Given the description of an element on the screen output the (x, y) to click on. 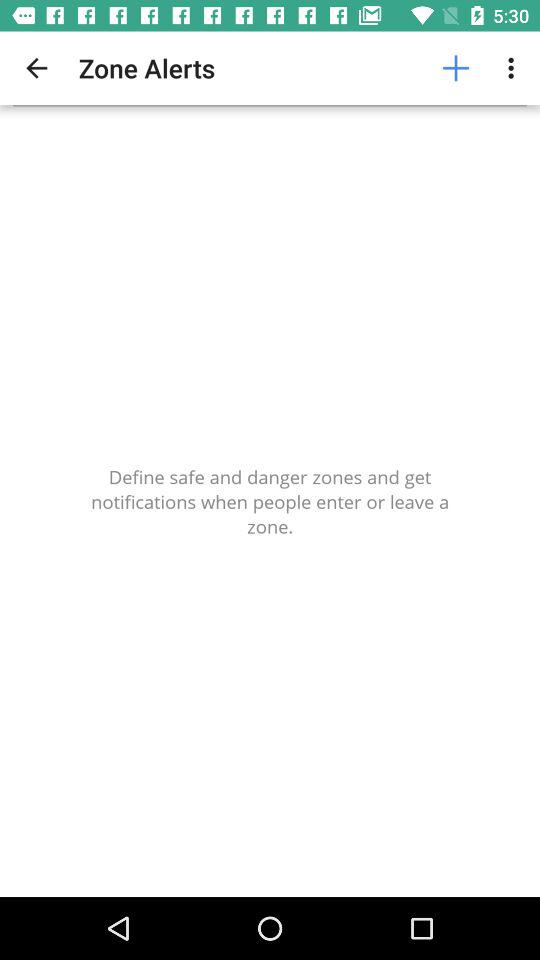
choose icon to the right of zone alerts (455, 67)
